Given the description of an element on the screen output the (x, y) to click on. 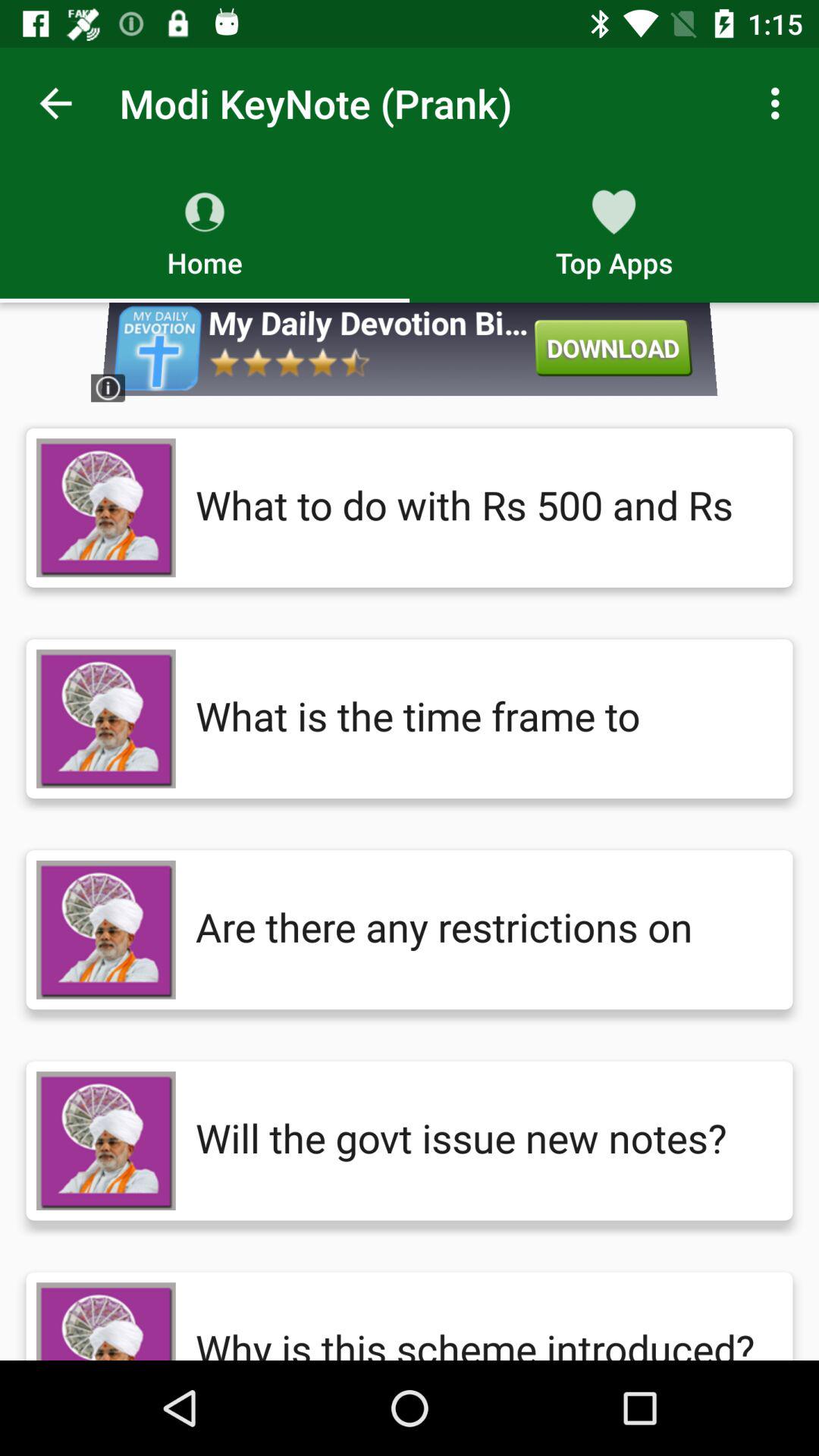
press icon above top apps (779, 103)
